Given the description of an element on the screen output the (x, y) to click on. 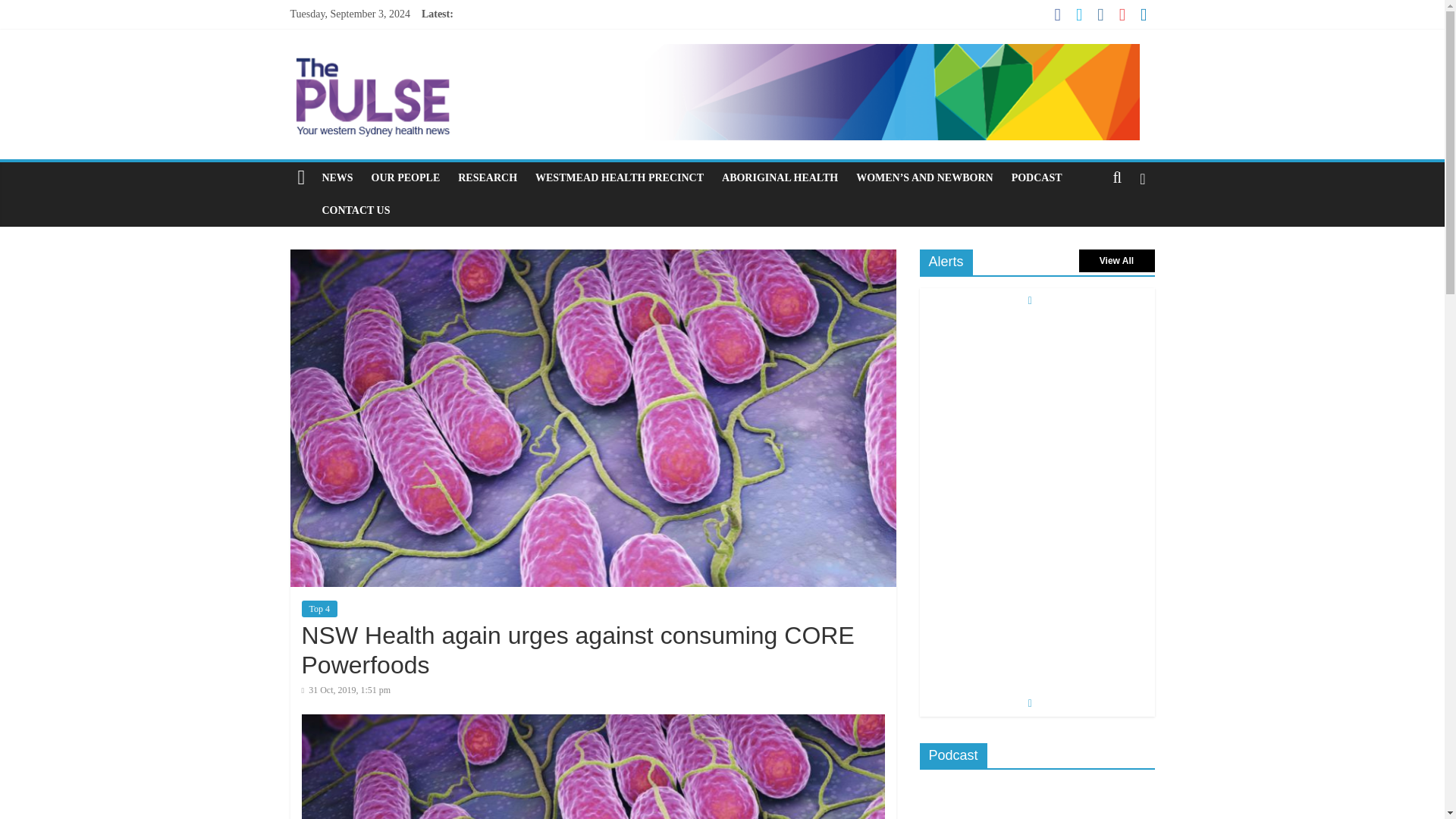
CONTACT US (355, 210)
Top 4 (319, 608)
WESTMEAD HEALTH PRECINCT (619, 178)
RESEARCH (486, 178)
OUR PEOPLE (405, 178)
NEWS (337, 178)
31 Oct, 2019, 1:51 pm (346, 689)
ABORIGINAL HEALTH (780, 178)
PODCAST (1037, 178)
Salmonella (593, 766)
